Given the description of an element on the screen output the (x, y) to click on. 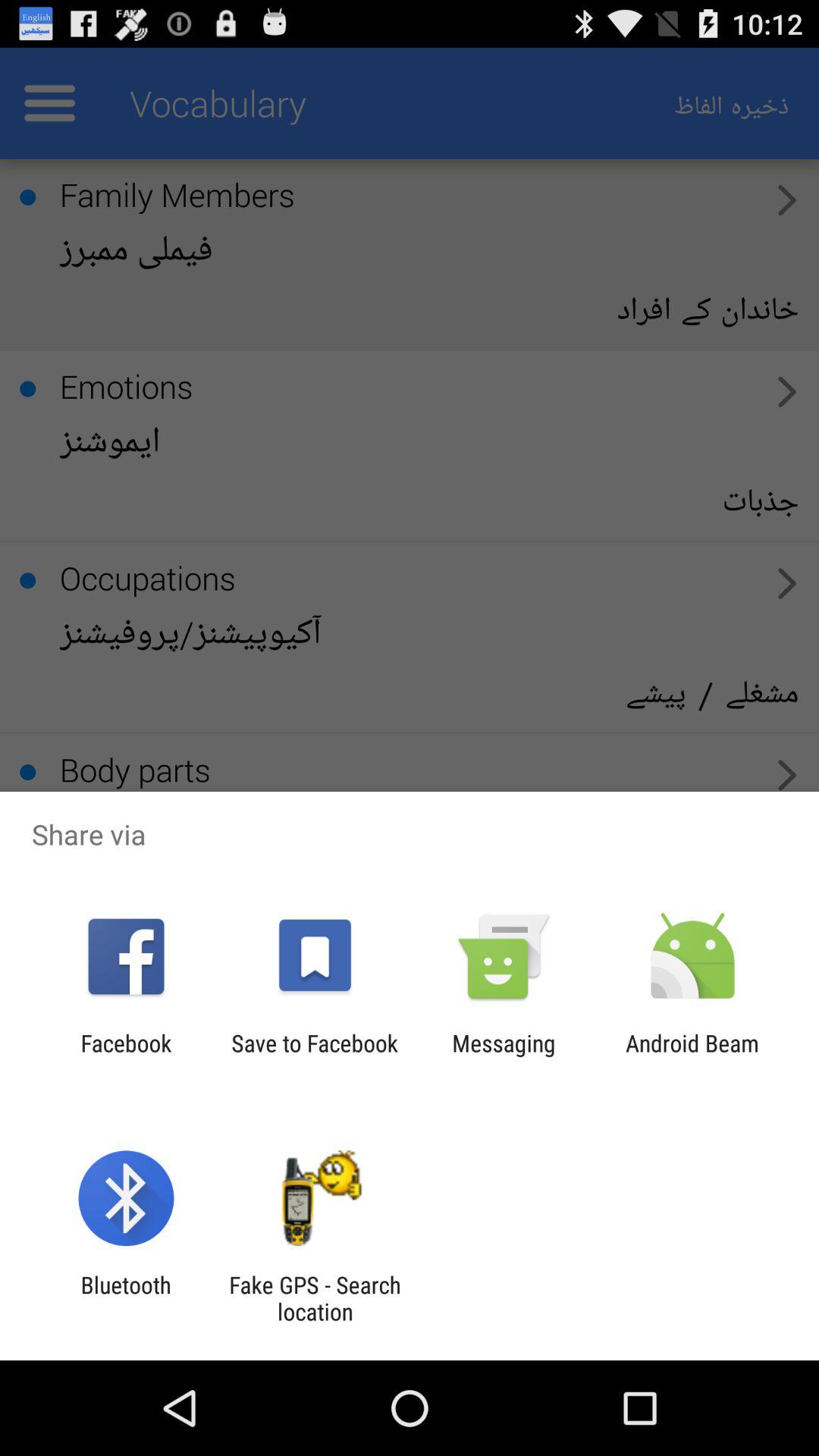
turn off the app to the right of messaging item (692, 1056)
